Given the description of an element on the screen output the (x, y) to click on. 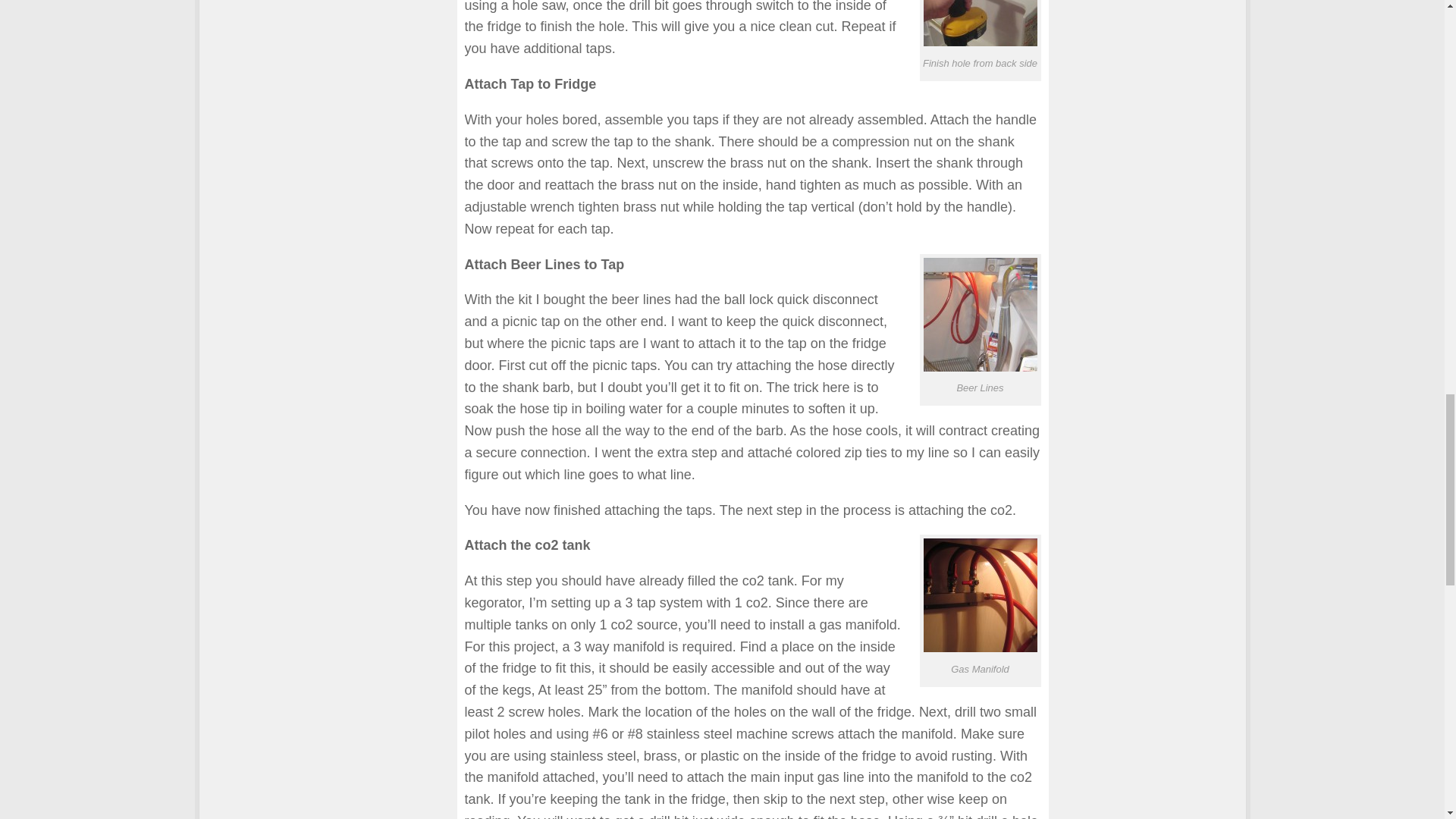
pic-010 (979, 22)
beerlines (979, 314)
pic-005 (979, 594)
